Given the description of an element on the screen output the (x, y) to click on. 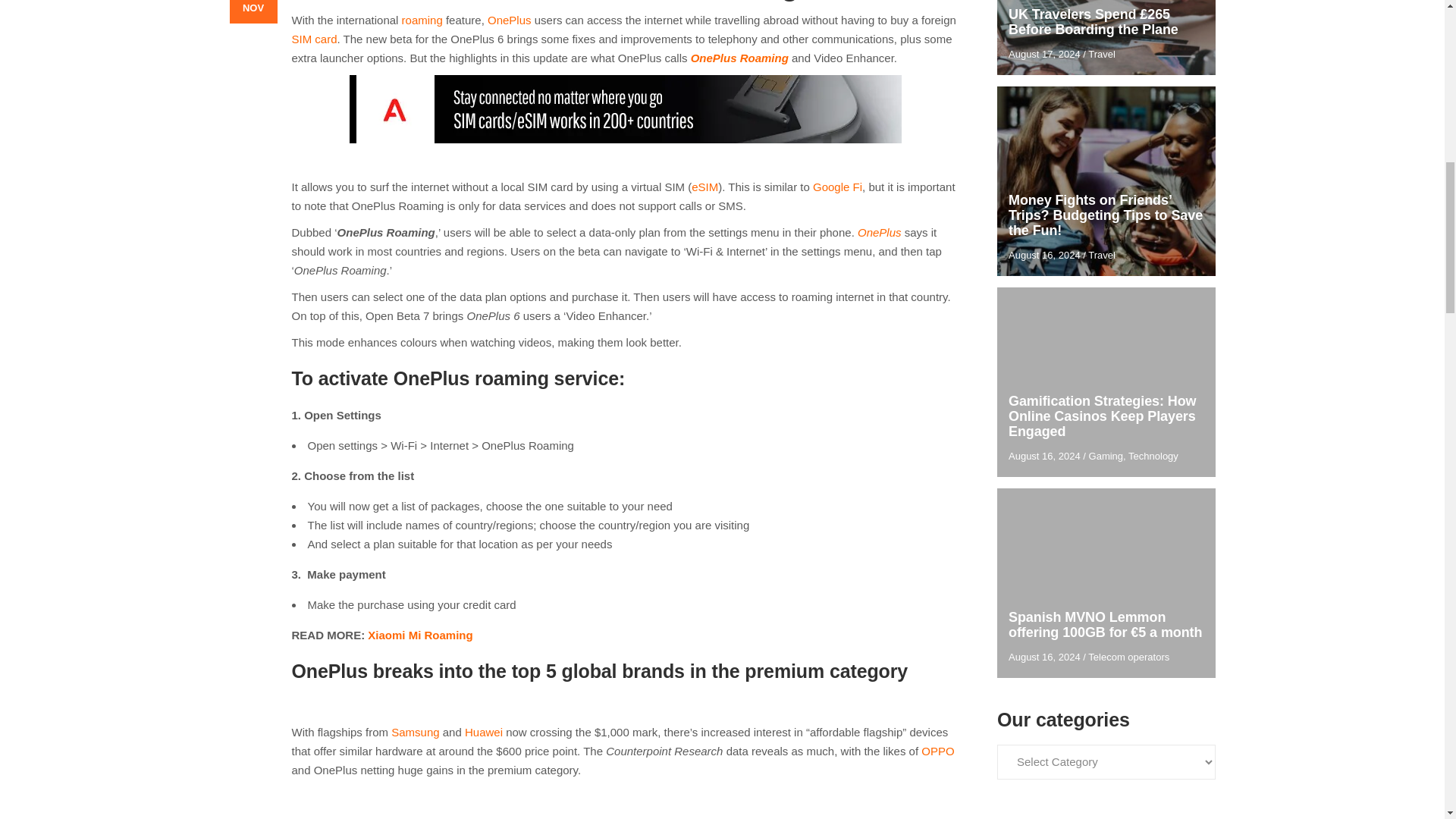
esim - bnesim (704, 186)
oneplus (509, 19)
roaming (421, 19)
google fi (836, 186)
samsung (415, 731)
OnePlus Logo (625, 803)
oppo (937, 750)
sim card (313, 38)
Huawei (483, 731)
